Given the description of an element on the screen output the (x, y) to click on. 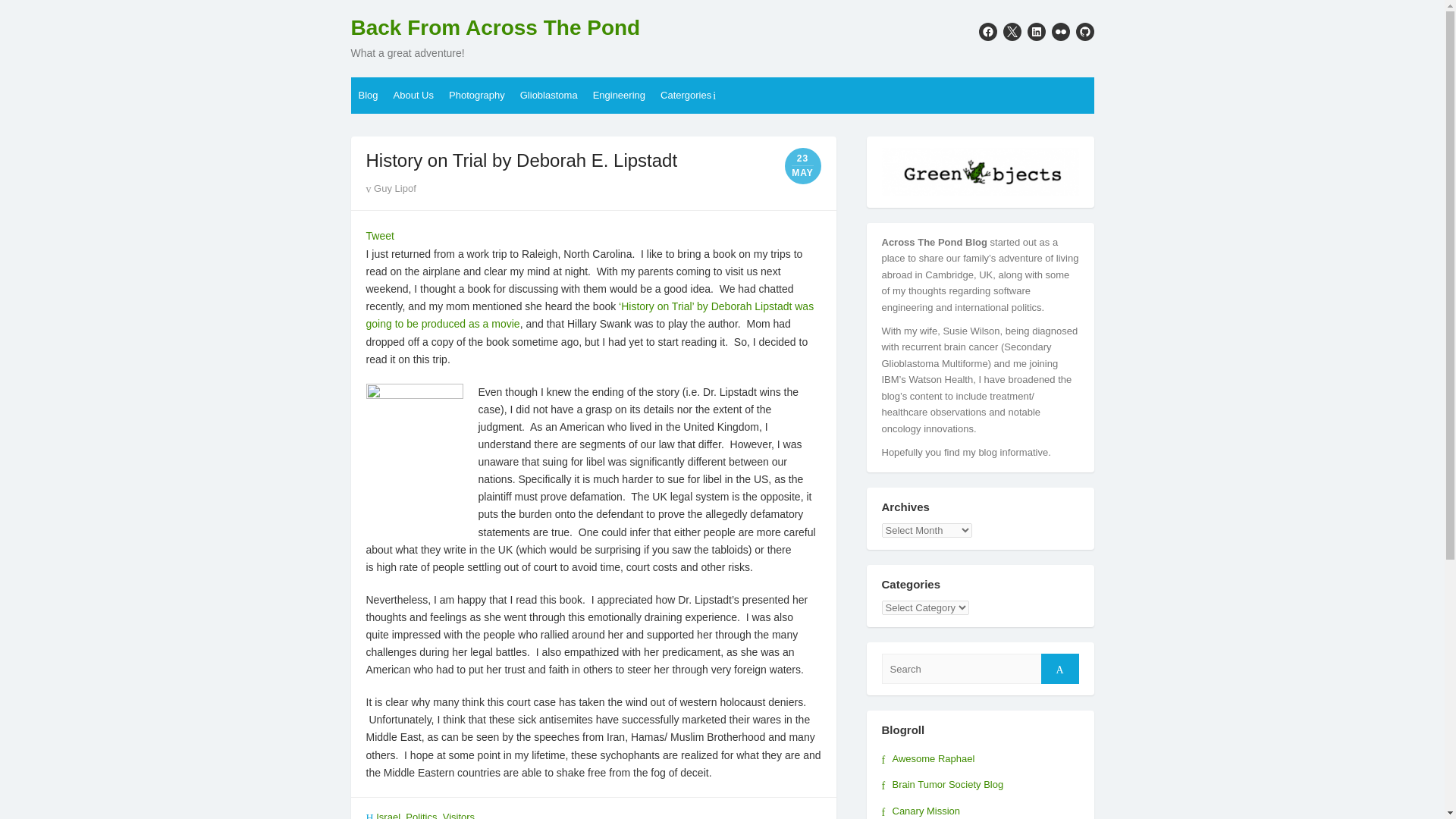
Catergories (688, 94)
Photography (476, 94)
About Us (413, 94)
twitter (1011, 31)
Blog (367, 94)
facebook (986, 31)
Engineering (618, 94)
Back From Across The Pond (495, 27)
github (1084, 31)
